Given the description of an element on the screen output the (x, y) to click on. 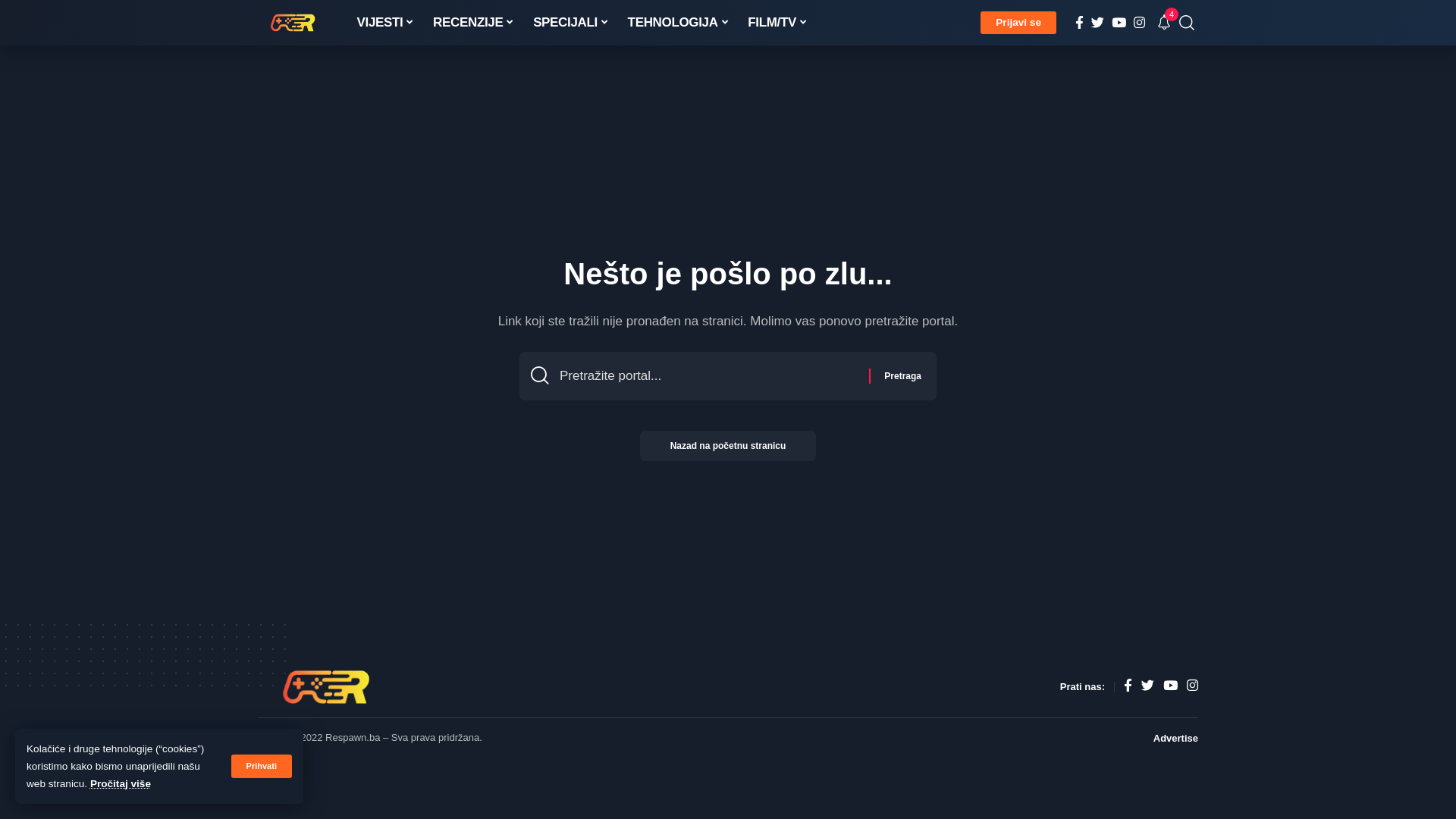
VIJESTI Element type: text (385, 22)
Advertise Element type: text (1175, 737)
FILM/TV Element type: text (777, 22)
Prihvati Element type: text (261, 766)
Prijavi se Element type: text (1018, 22)
Respawn.ba Element type: hover (294, 22)
Pretraga Element type: text (902, 375)
Respawn.ba Element type: hover (330, 687)
RECENZIJE Element type: text (473, 22)
SPECIJALI Element type: text (571, 22)
4 Element type: text (1163, 22)
TEHNOLOGIJA Element type: text (678, 22)
